Given the description of an element on the screen output the (x, y) to click on. 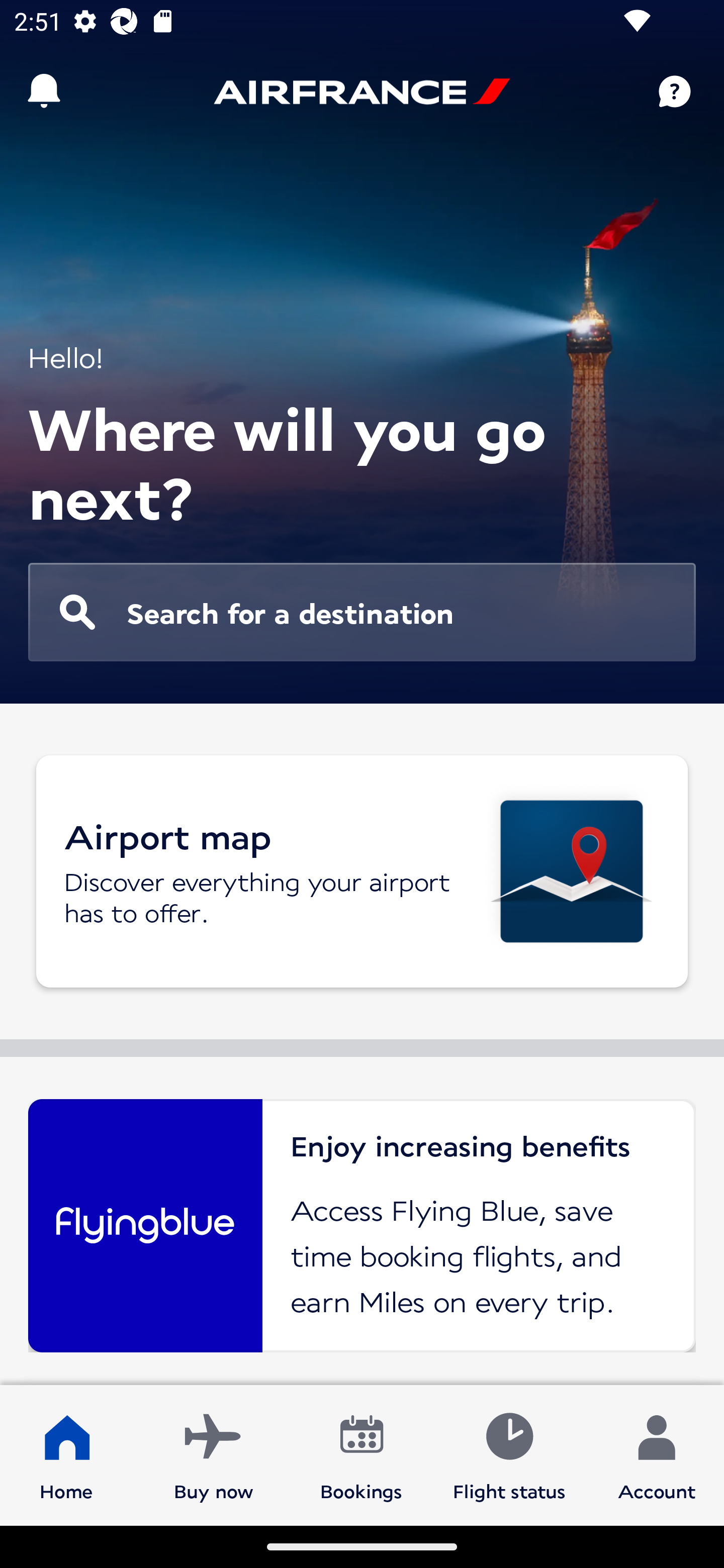
Search for a destination (361, 611)
Buy now (213, 1454)
Bookings (361, 1454)
Flight status (509, 1454)
Account (657, 1454)
